Given the description of an element on the screen output the (x, y) to click on. 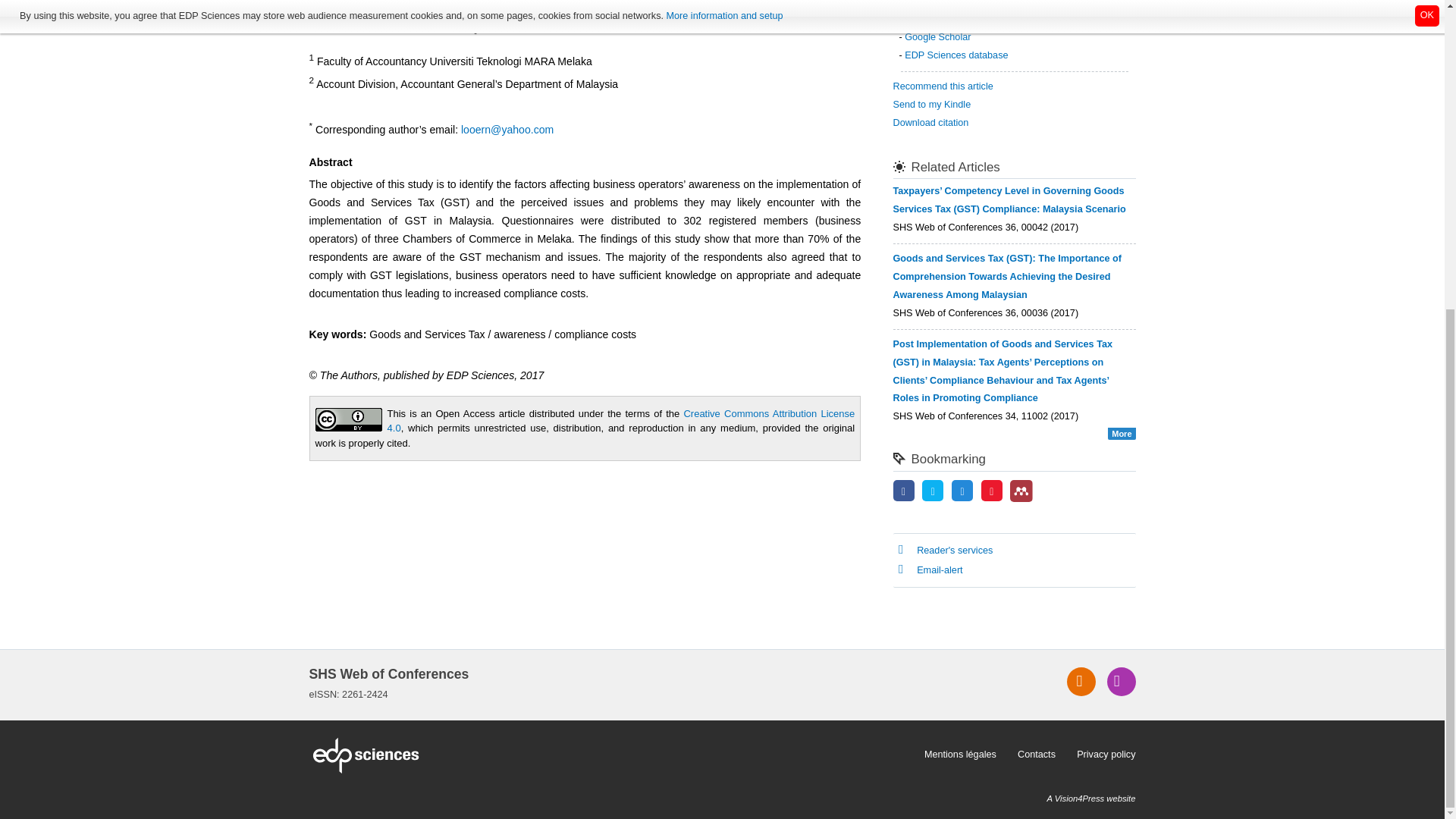
Mendeley (1021, 490)
